Given the description of an element on the screen output the (x, y) to click on. 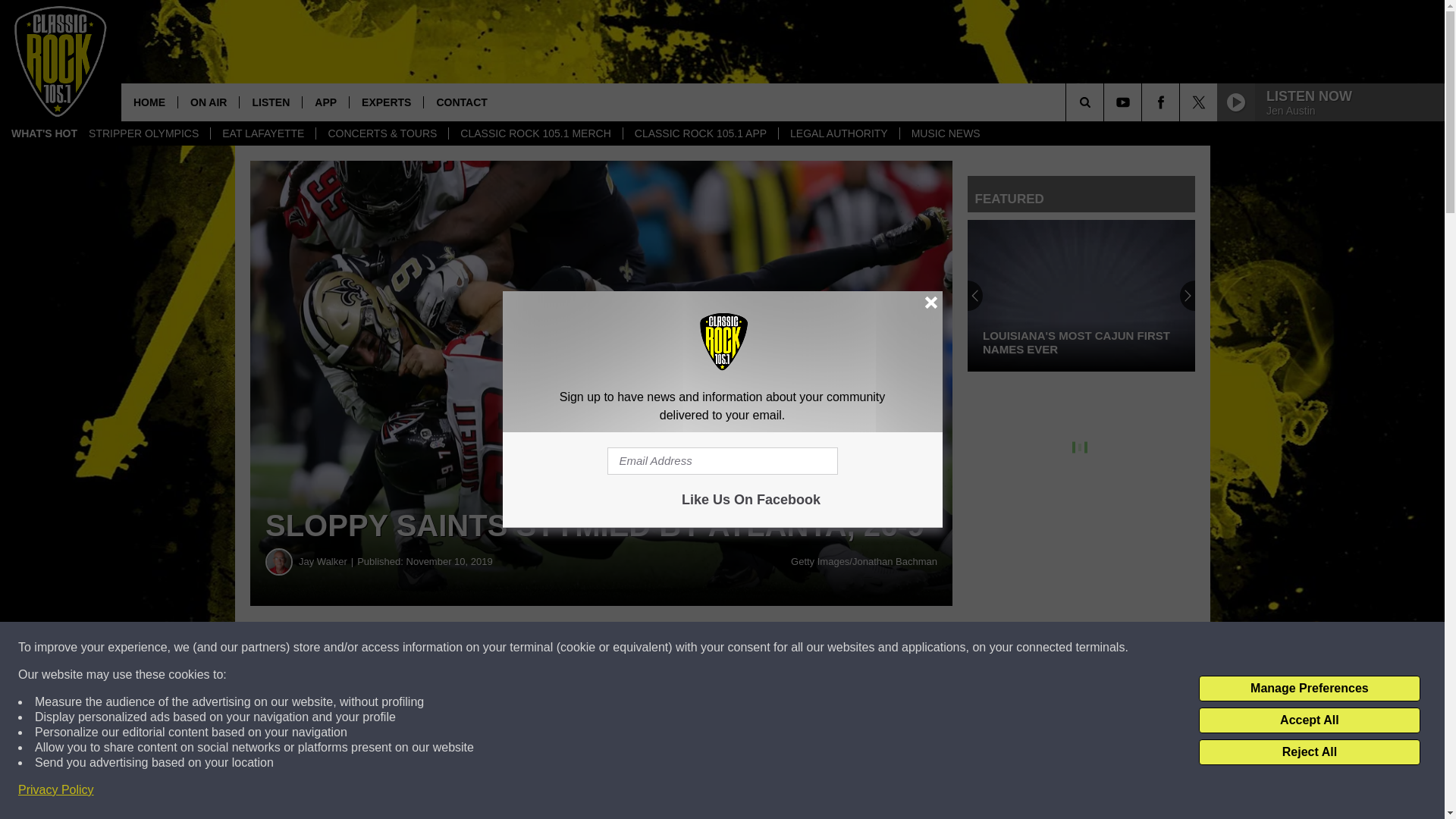
MUSIC NEWS (945, 133)
Accept All (1309, 720)
HOME (148, 102)
Share on Twitter (741, 647)
Share on Facebook (460, 647)
SEARCH (1106, 102)
Privacy Policy (55, 789)
LEGAL AUTHORITY (838, 133)
CLASSIC ROCK 105.1 MERCH (534, 133)
Reject All (1309, 751)
CLASSIC ROCK 105.1 APP (700, 133)
LISTEN (269, 102)
EXPERTS (386, 102)
APP (325, 102)
Email Address (722, 461)
